Given the description of an element on the screen output the (x, y) to click on. 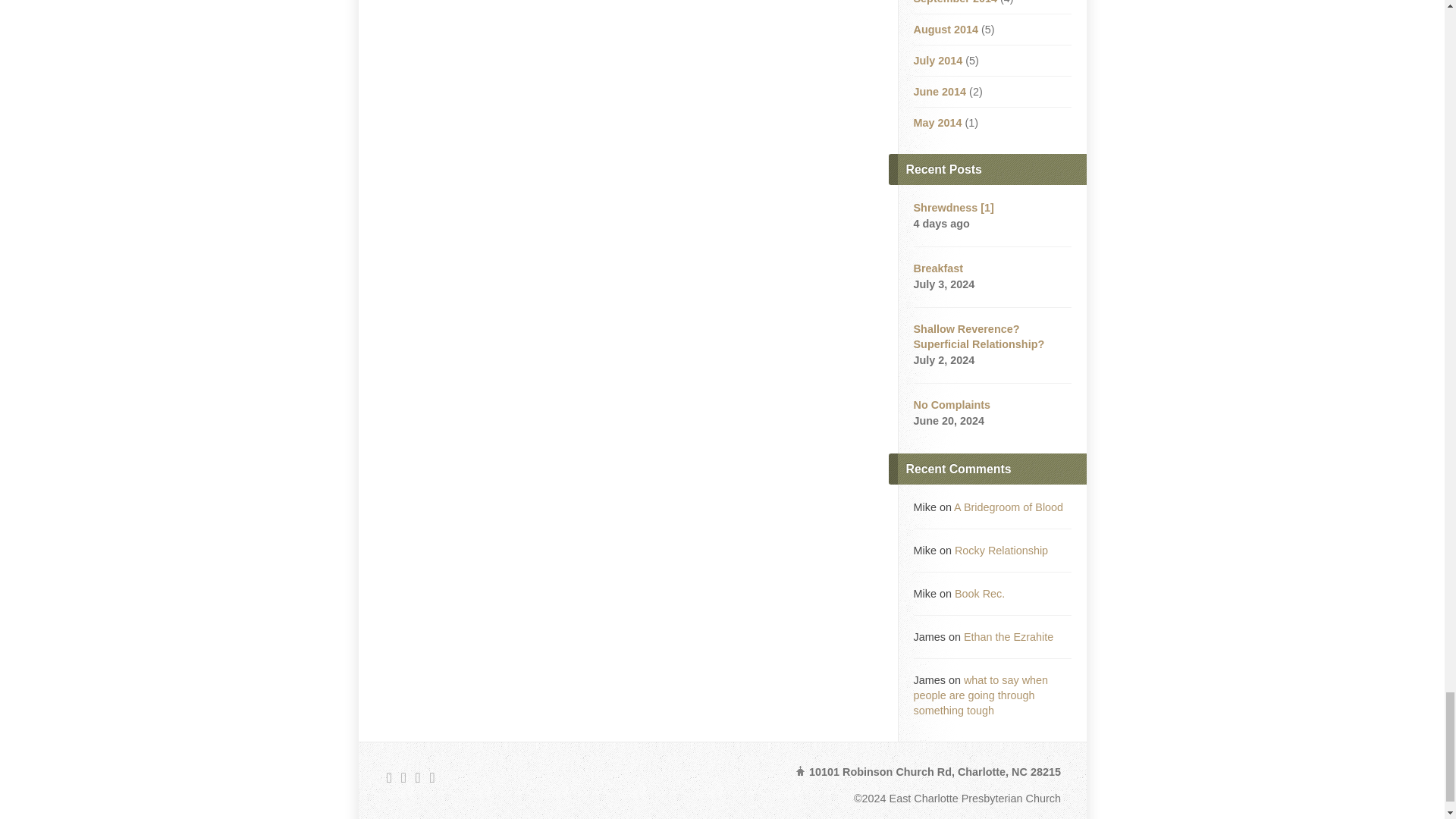
No Complaints (951, 404)
Breakfast (937, 268)
Shallow Reverence? Superficial Relationship? (977, 336)
